Given the description of an element on the screen output the (x, y) to click on. 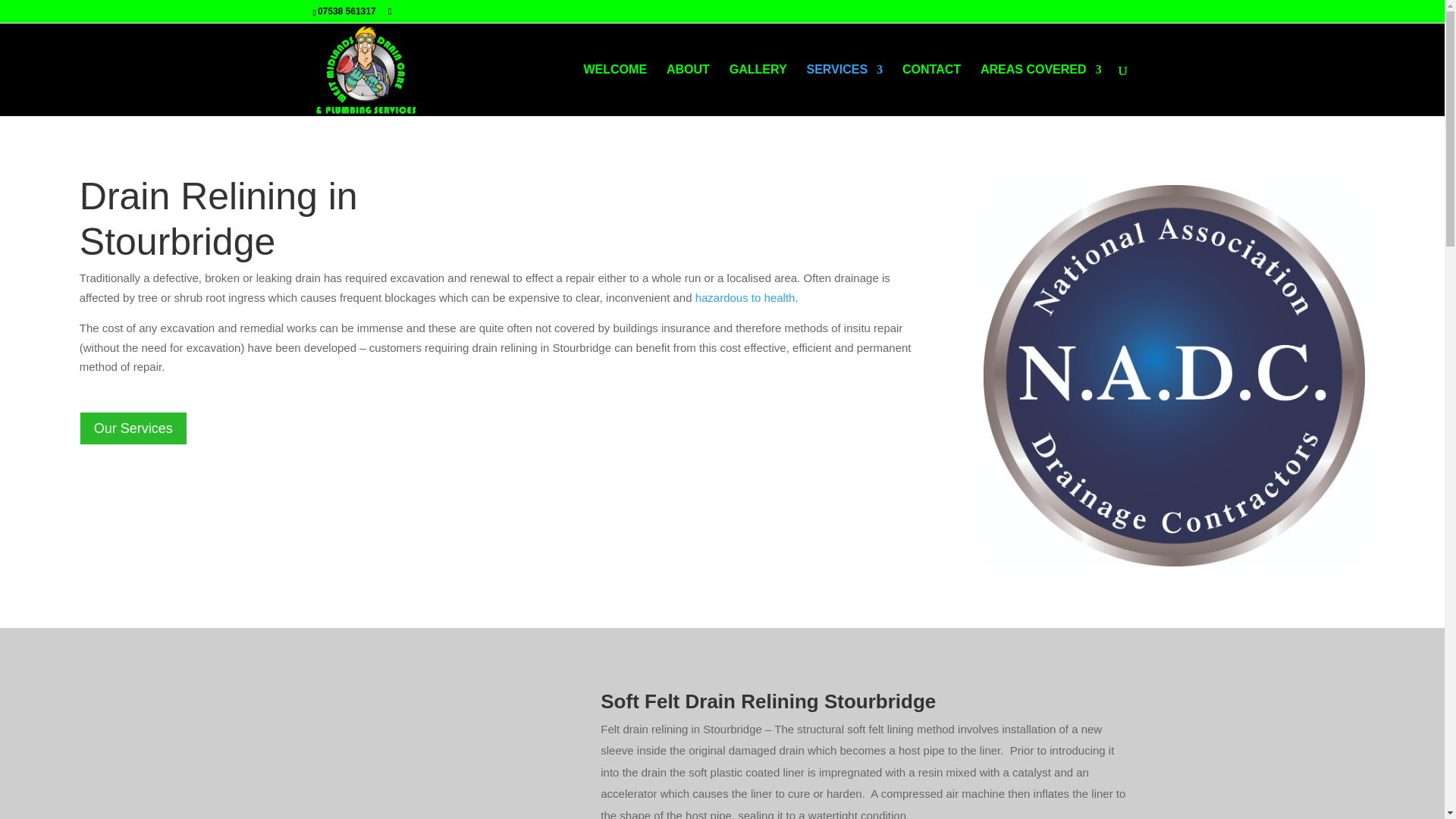
CONTACT (931, 90)
GALLERY (758, 90)
WELCOME (615, 90)
AREAS COVERED (1040, 90)
SERVICES (844, 90)
